Given the description of an element on the screen output the (x, y) to click on. 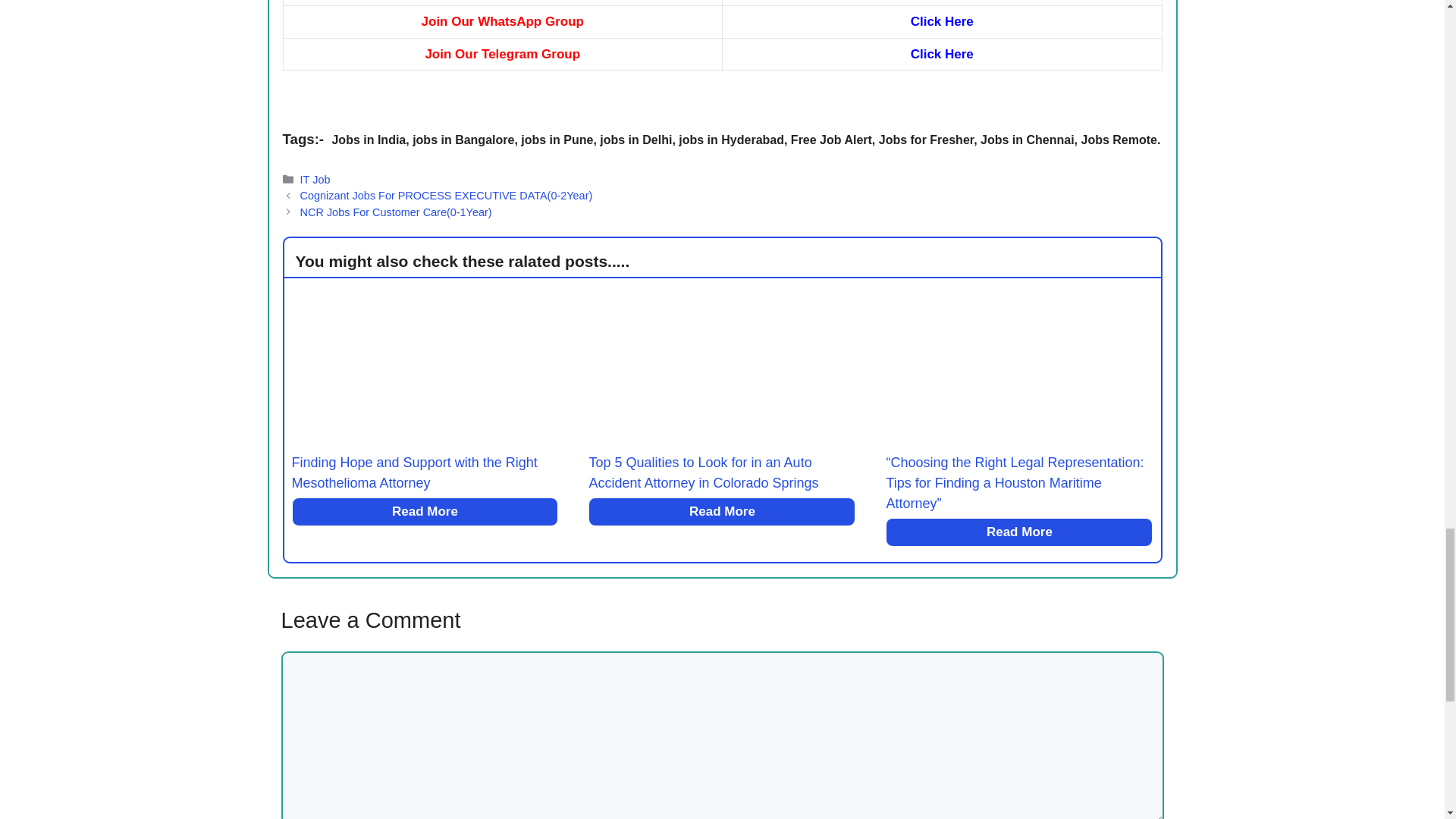
Click Here (942, 21)
Read More (1019, 532)
Click Here (942, 53)
IT Job (314, 179)
Read More (722, 511)
Read More (424, 511)
